Given the description of an element on the screen output the (x, y) to click on. 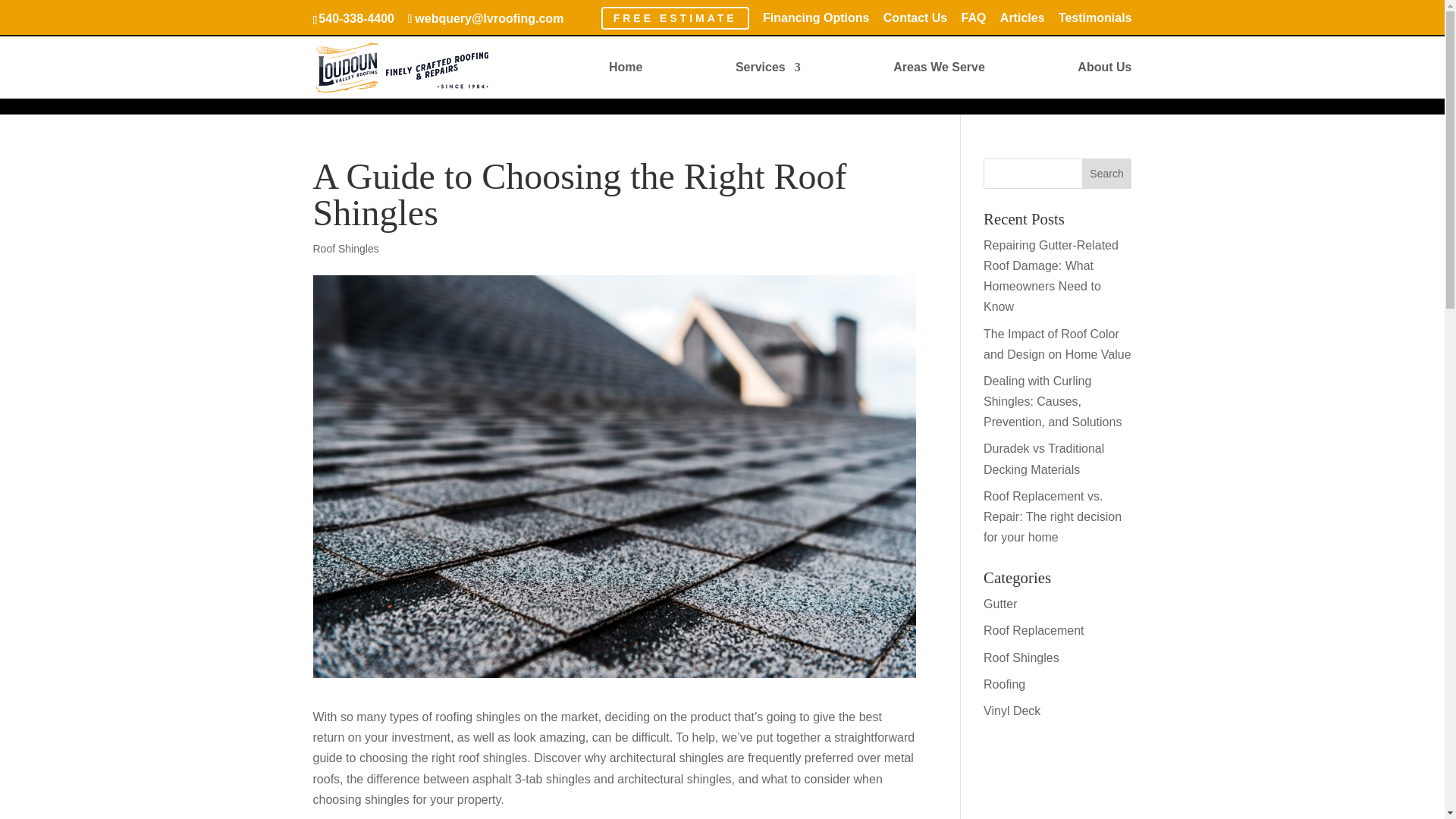
FAQ (973, 22)
About Us (1104, 78)
Services (767, 78)
Financing Options (815, 22)
Contact Us (915, 22)
Articles (1022, 22)
The Impact of Roof Color and Design on Home Value (1057, 344)
Search (1106, 173)
Search (1106, 173)
